Given the description of an element on the screen output the (x, y) to click on. 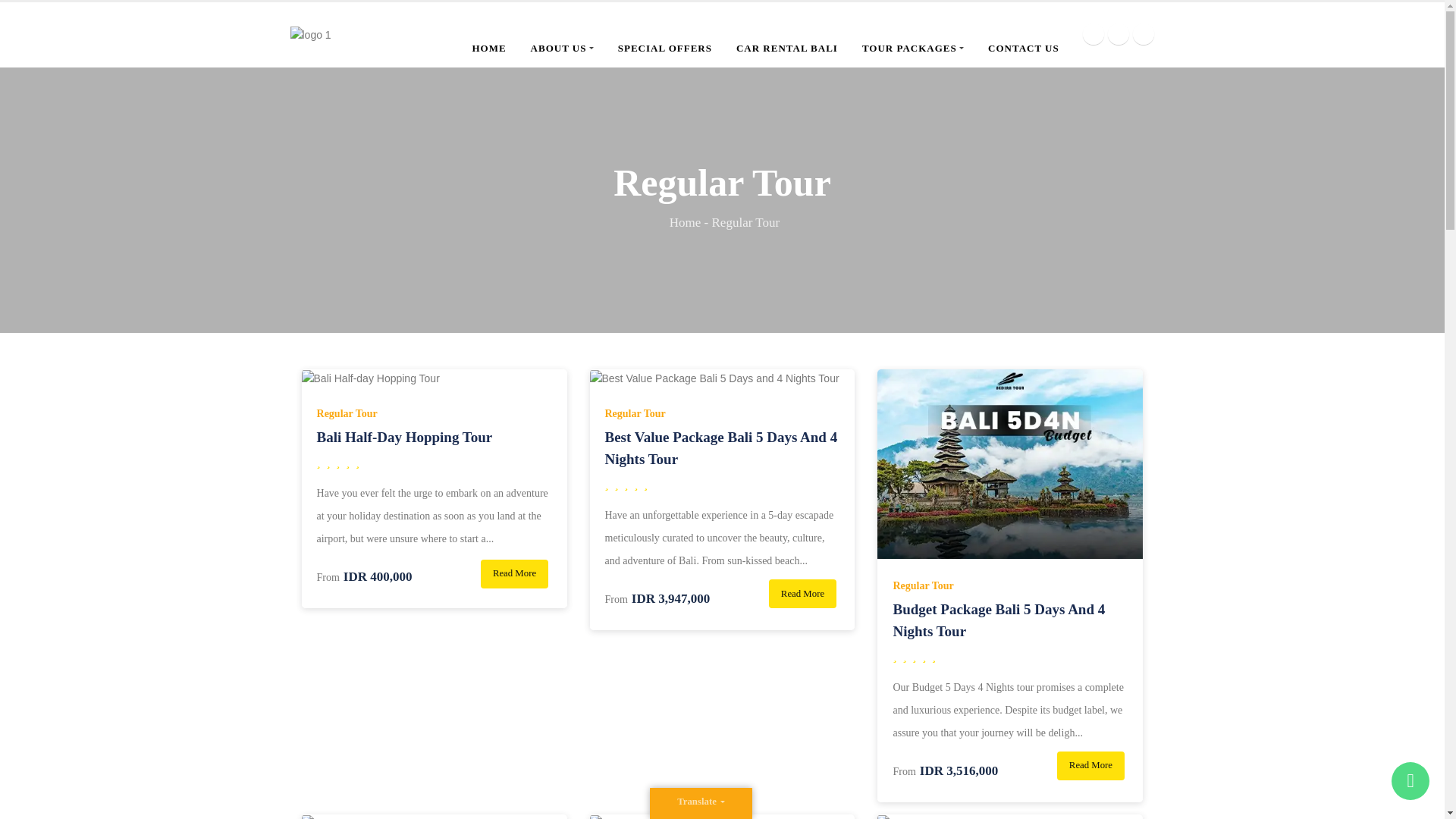
ABOUT US (562, 47)
Read More (514, 573)
Instagram (1118, 34)
CAR RENTAL BALI (786, 47)
Car Rental Bali (786, 47)
About Us (562, 47)
Tour Packages (912, 47)
Contact Us (1023, 47)
